Given the description of an element on the screen output the (x, y) to click on. 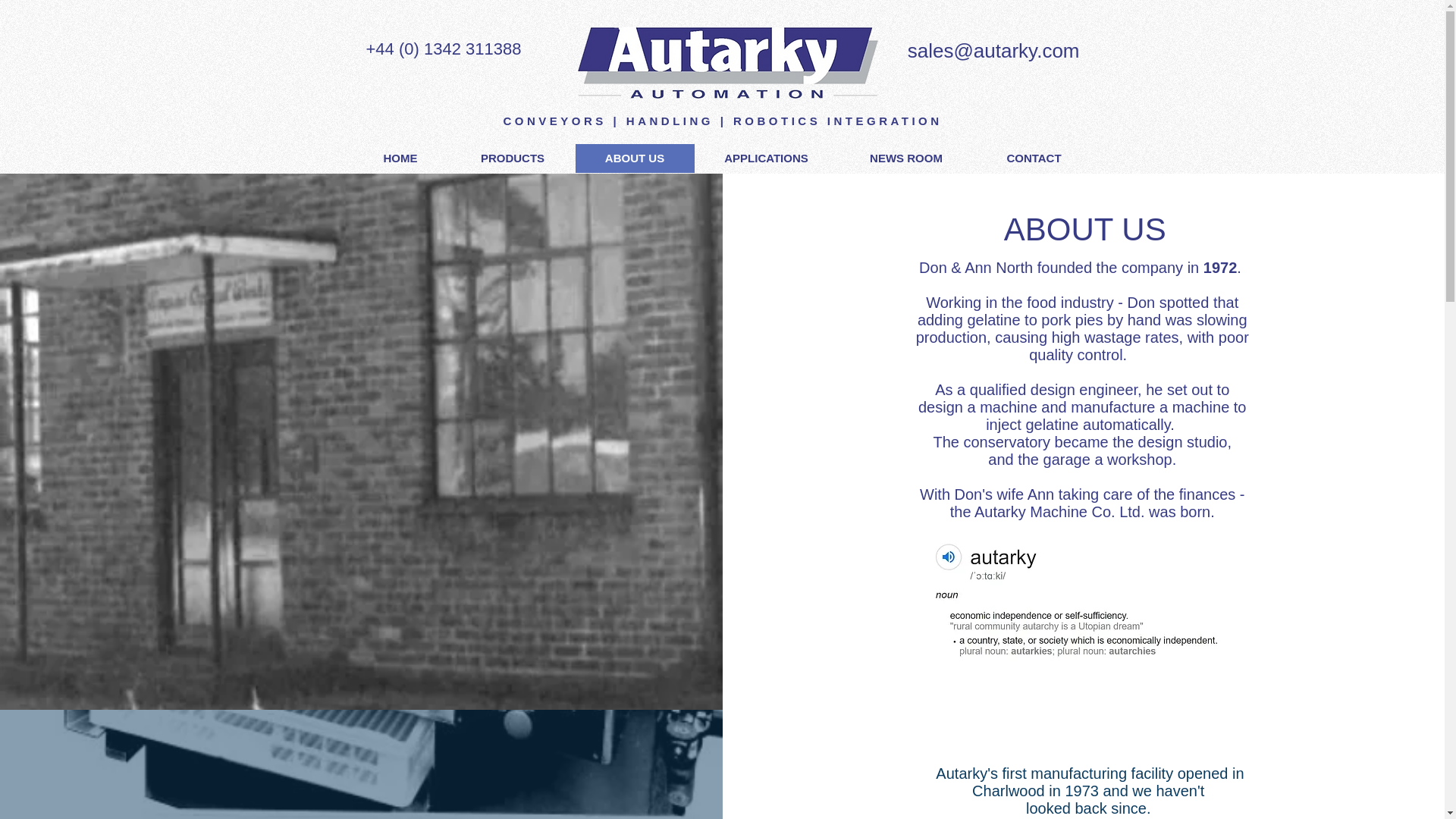
CONTACT (1033, 158)
ABOUT US (634, 158)
APPLICATIONS (766, 158)
NEWS ROOM (906, 158)
HOME (399, 158)
PRODUCTS (512, 158)
